Given the description of an element on the screen output the (x, y) to click on. 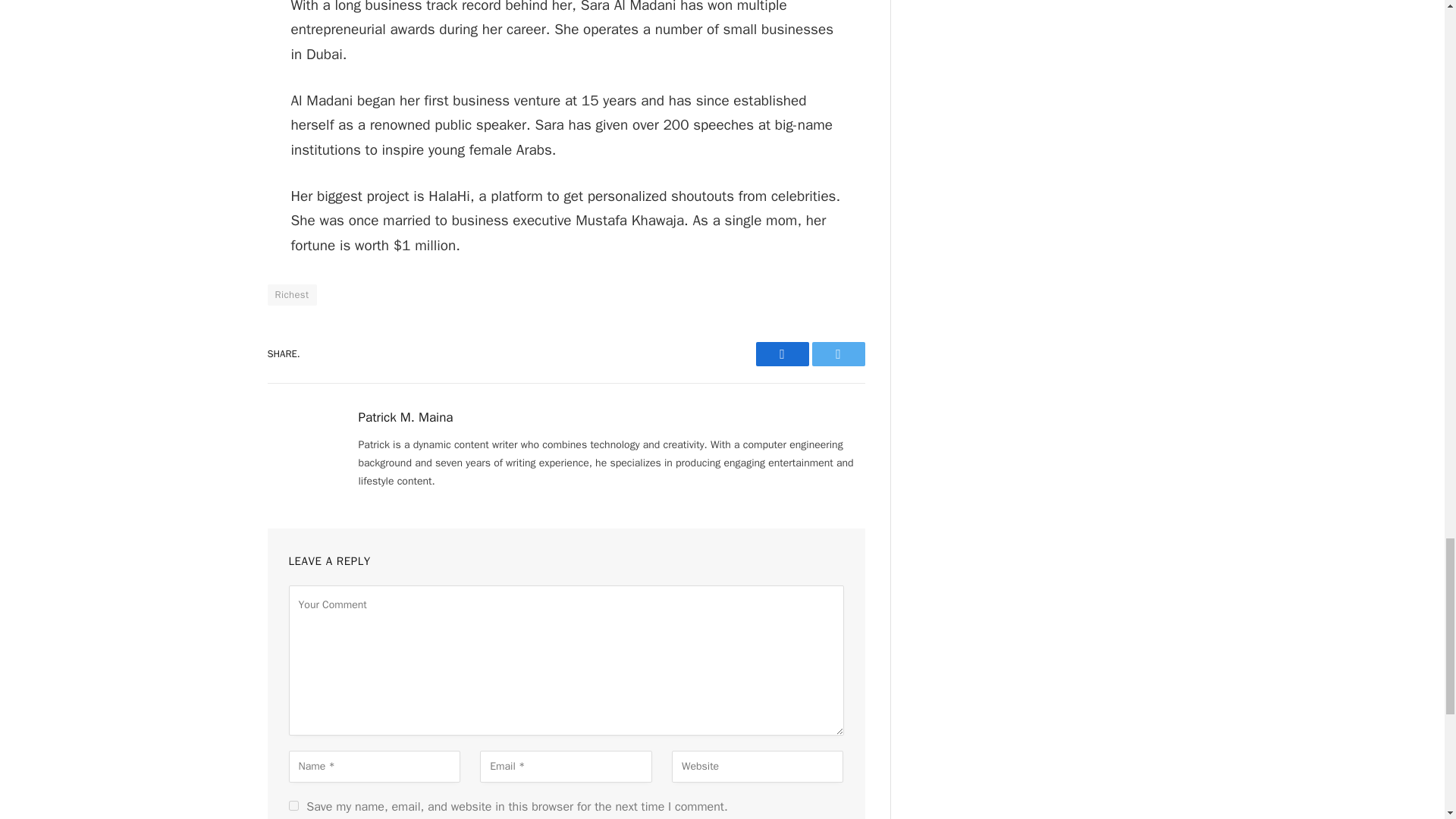
yes (293, 805)
Share on Facebook (781, 354)
Posts by Patrick M. Maina (405, 417)
Patrick M. Maina (405, 417)
Richest (290, 294)
Twitter (837, 354)
Share on Twitter (837, 354)
Facebook (781, 354)
